Given the description of an element on the screen output the (x, y) to click on. 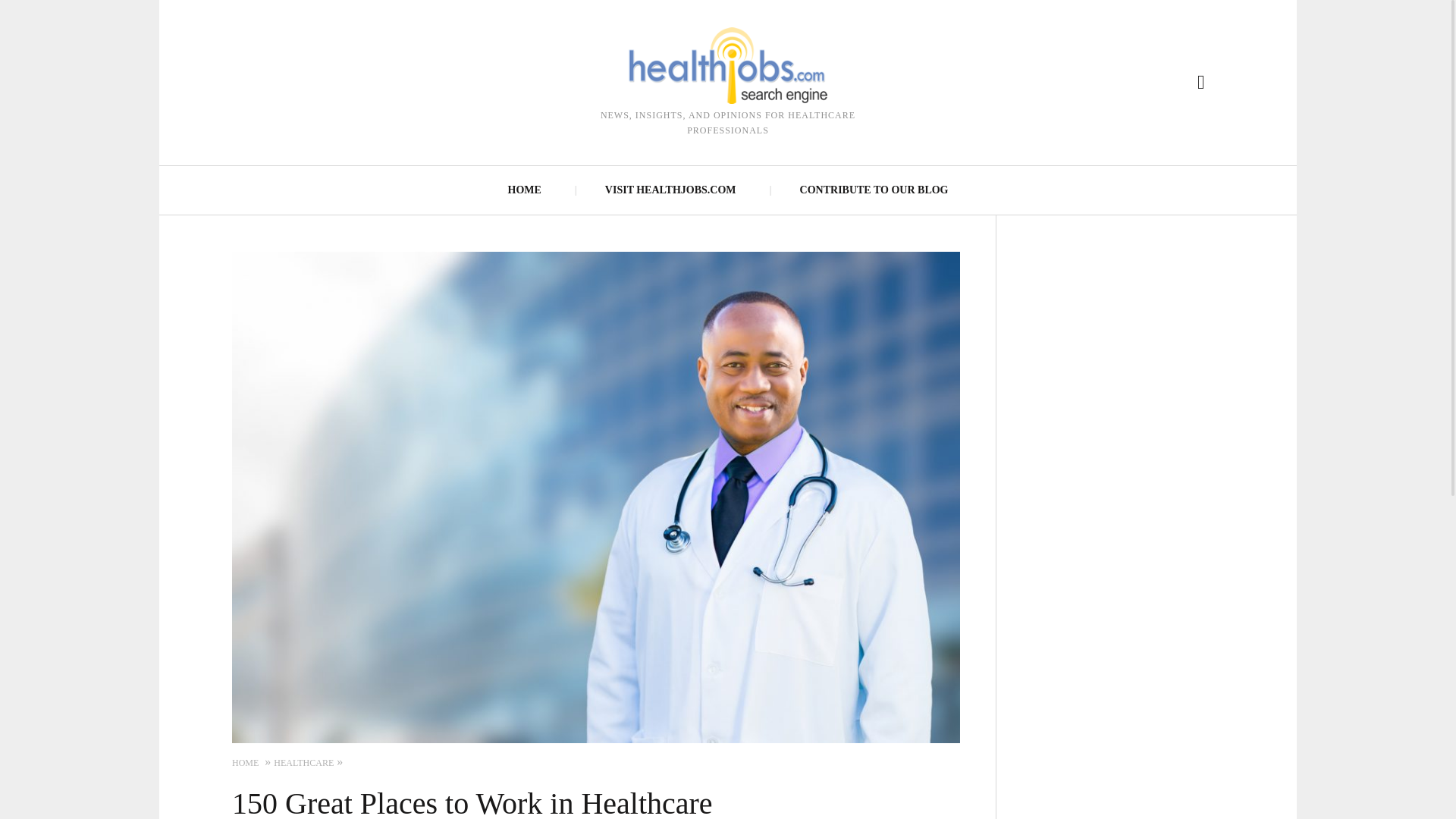
HOME (245, 762)
VISIT HEALTHJOBS.COM (670, 190)
HEALTHCARE (303, 762)
CONTRIBUTE TO OUR BLOG (873, 190)
View all posts filed under Healthcare (303, 762)
HOME (524, 190)
HealthJobs.com Blog (727, 65)
